Given the description of an element on the screen output the (x, y) to click on. 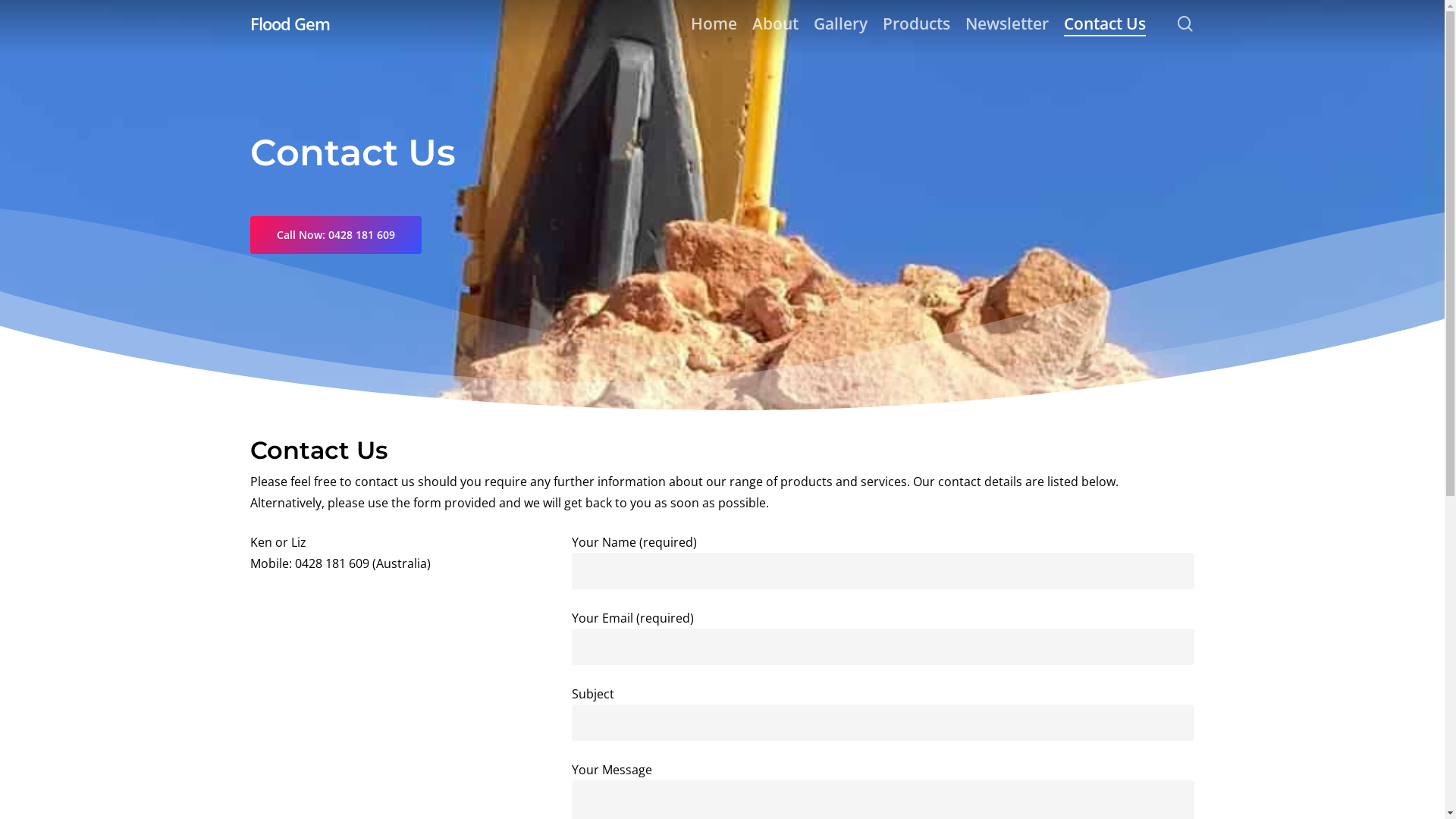
Home Element type: text (713, 23)
Call Now: 0428 181 609 Element type: text (335, 235)
About Element type: text (775, 23)
search Element type: text (1185, 23)
Flood Gem Element type: text (289, 23)
Gallery Element type: text (840, 23)
Products Element type: text (916, 23)
Contact Us Element type: text (1104, 23)
Newsletter Element type: text (1006, 23)
